Given the description of an element on the screen output the (x, y) to click on. 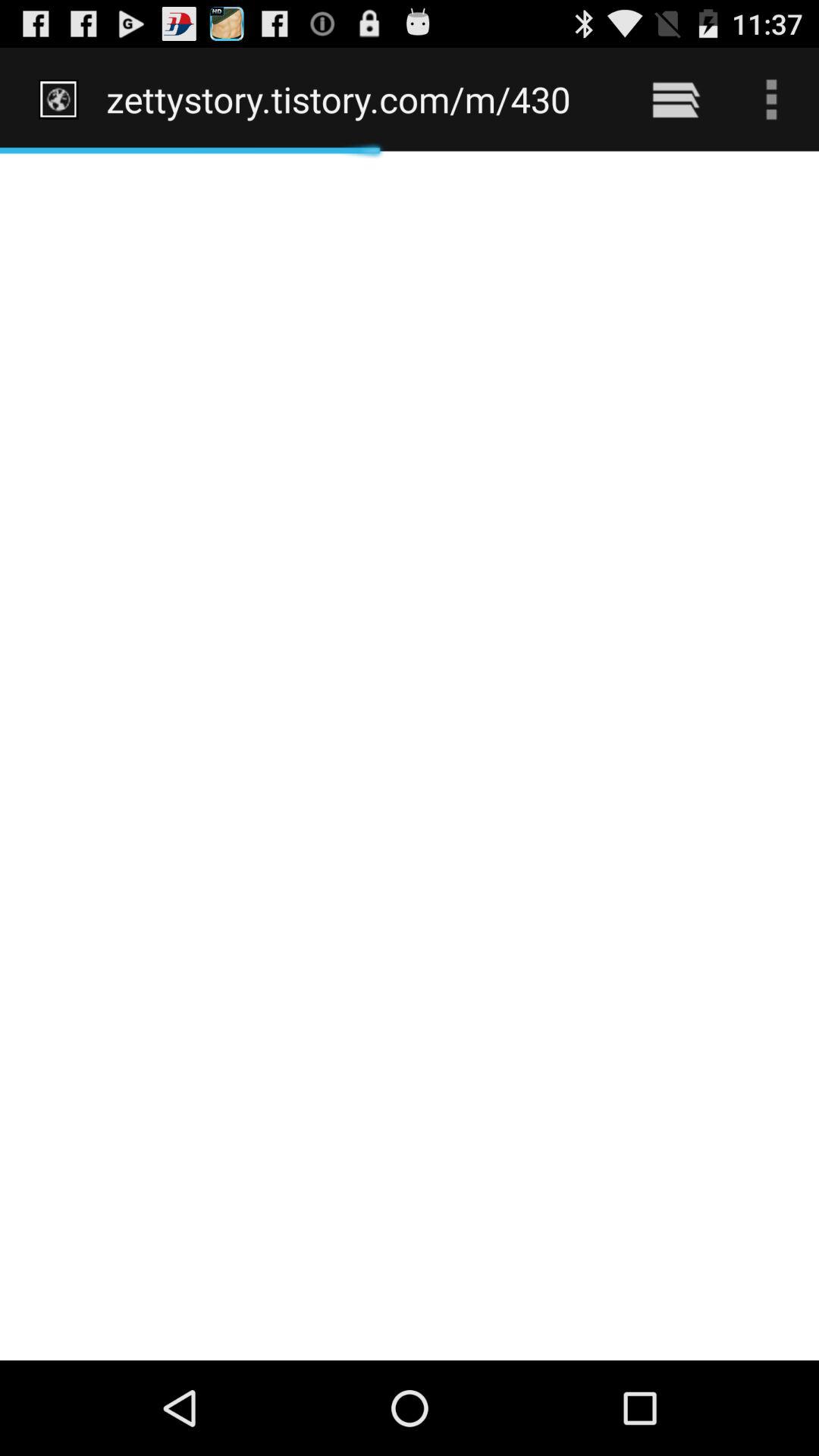
launch the zettystory tistory com (357, 99)
